Given the description of an element on the screen output the (x, y) to click on. 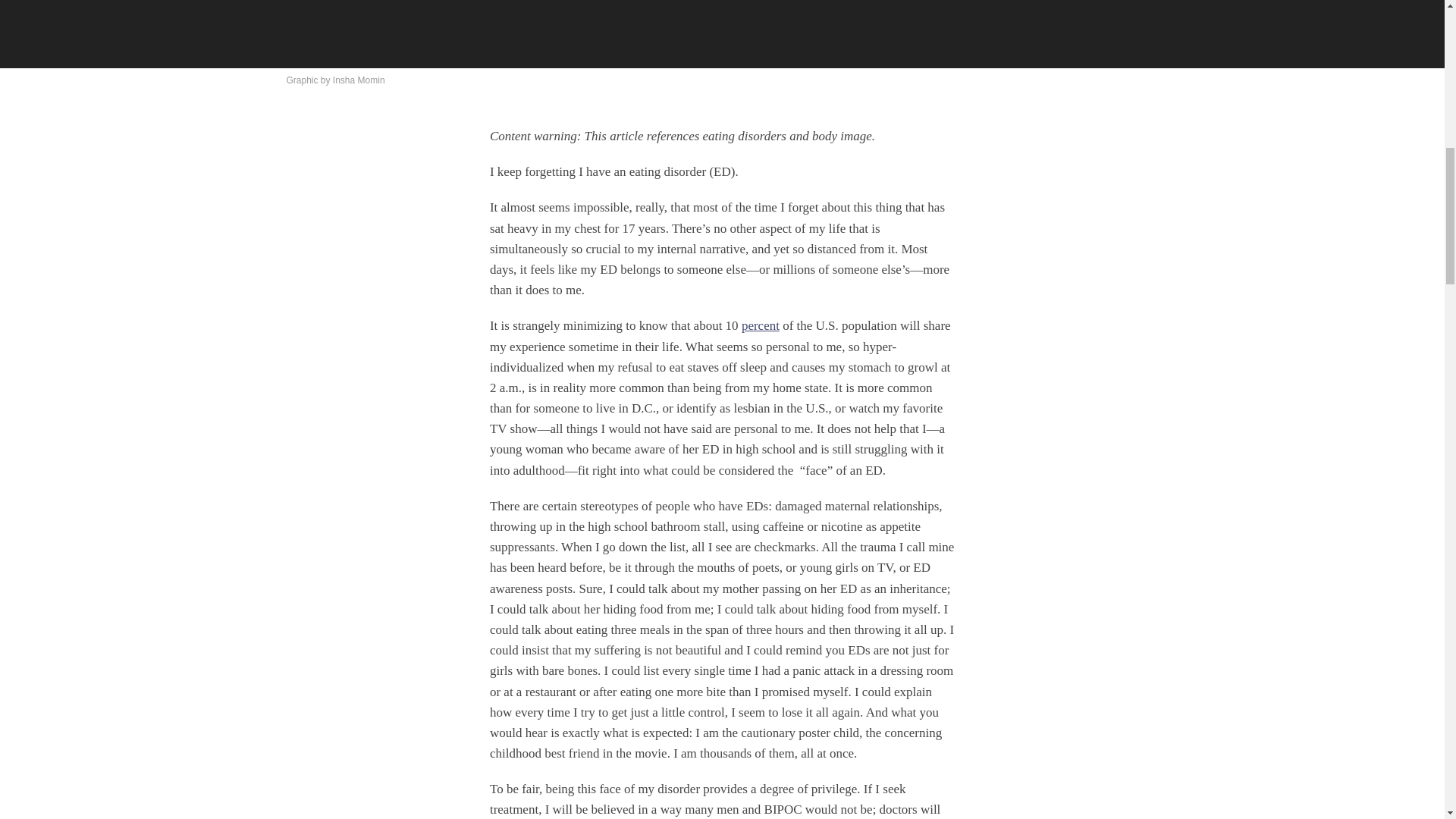
Posts by Anonymous (325, 26)
